Given the description of an element on the screen output the (x, y) to click on. 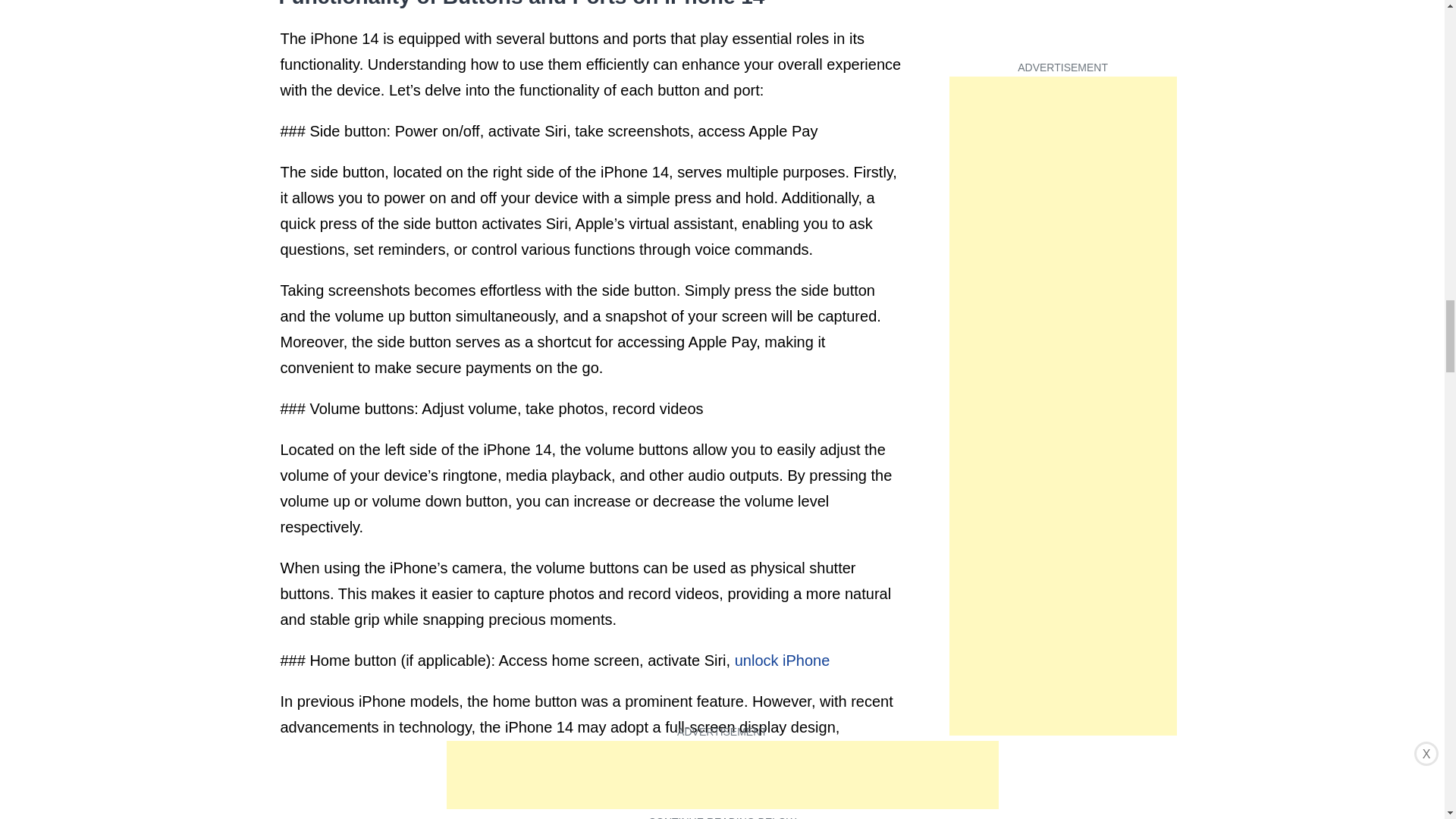
unlock iPhone (782, 660)
